Given the description of an element on the screen output the (x, y) to click on. 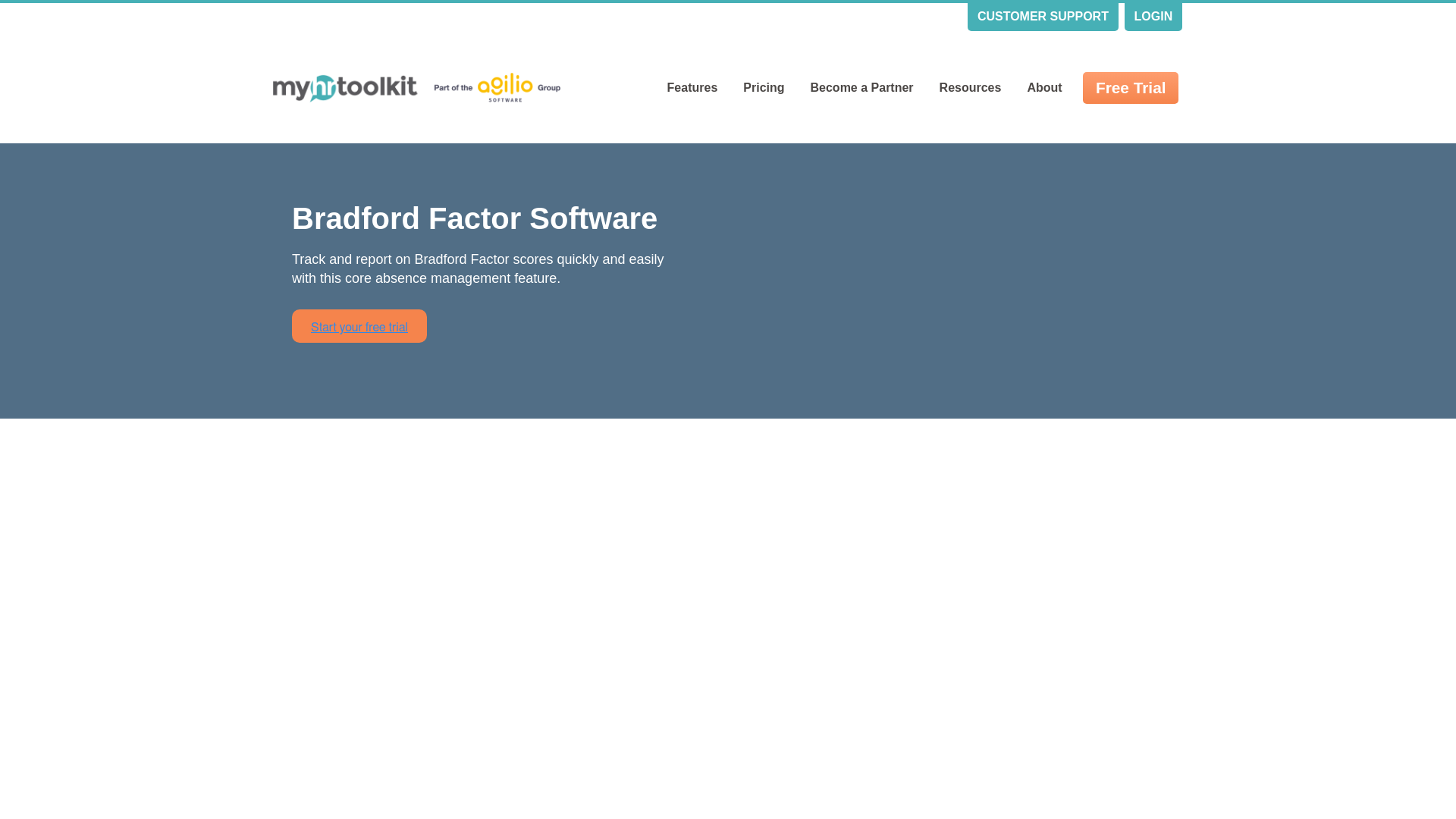
LOGIN (1153, 17)
myhrtoolkit-agilio-logo-colour-800px (416, 87)
Resources (970, 88)
Free Trial (1130, 88)
Become a Partner (861, 88)
CUSTOMER SUPPORT (1043, 17)
About (1043, 88)
Pricing (763, 88)
Features (691, 88)
